Given the description of an element on the screen output the (x, y) to click on. 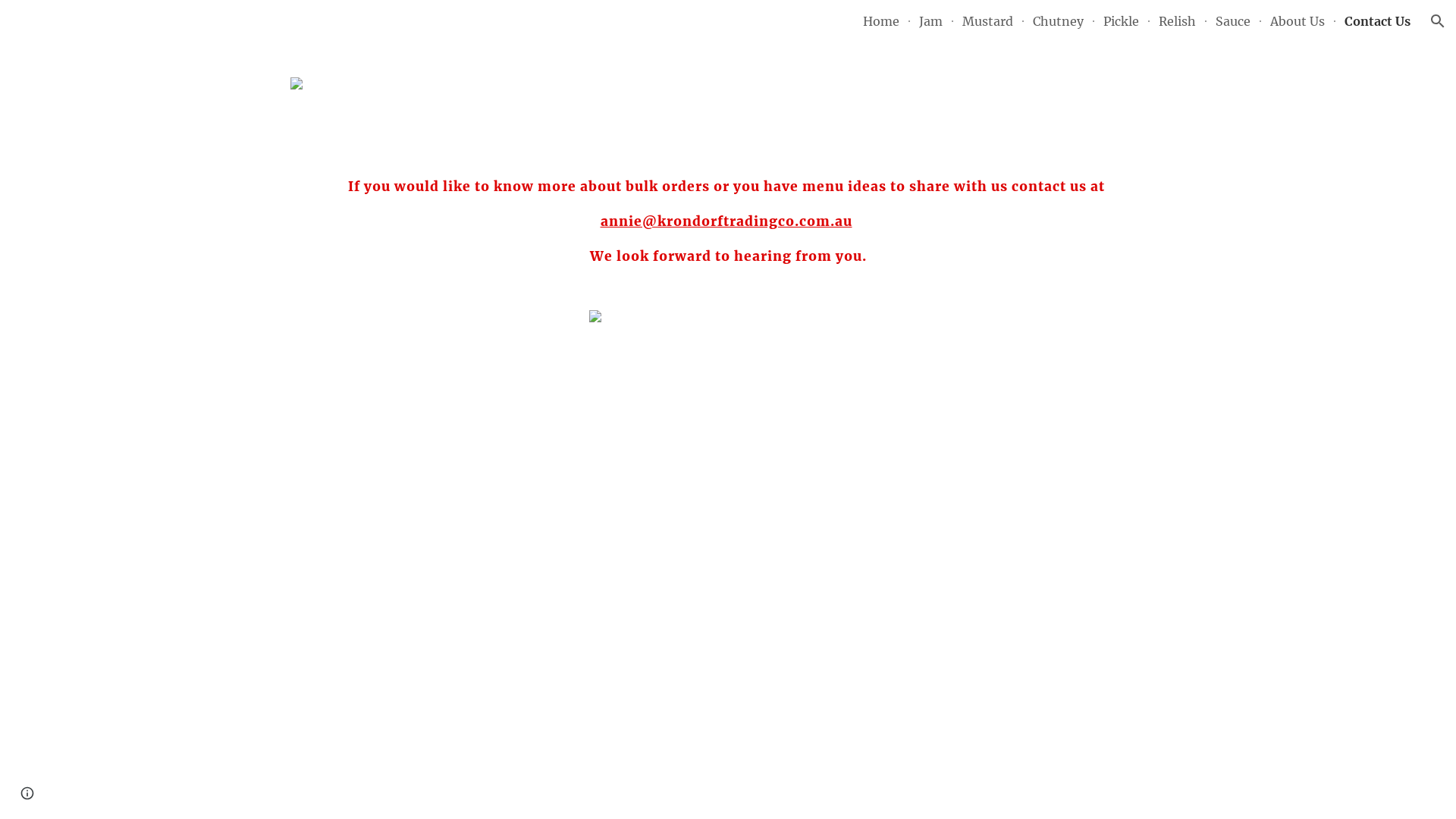
Mustard Element type: text (987, 20)
Contact Us Element type: text (1377, 20)
Jam Element type: text (930, 20)
Home Element type: text (880, 20)
About Us Element type: text (1297, 20)
annie@krondorftradingco.com.au Element type: text (726, 221)
Pickle Element type: text (1121, 20)
Relish Element type: text (1176, 20)
Chutney Element type: text (1057, 20)
Sauce Element type: text (1232, 20)
